Given the description of an element on the screen output the (x, y) to click on. 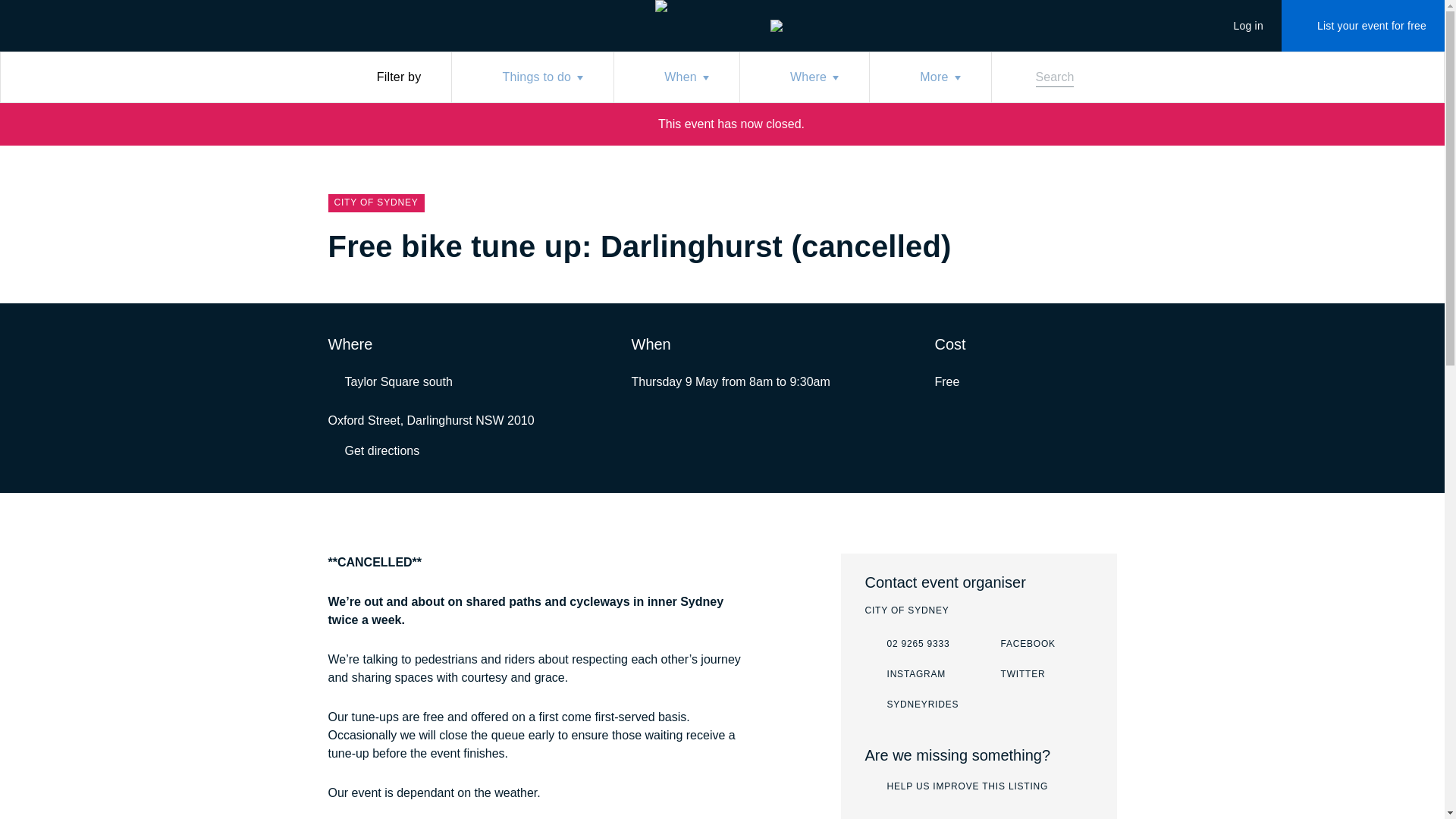
Share on Facebook (389, 382)
Share on Twitter (956, 787)
Things to do (1045, 248)
Copy this link (1076, 248)
Copy this link (1239, 25)
More (373, 451)
Share on Twitter (531, 77)
Search (904, 674)
When (1106, 248)
Get directions (1106, 248)
